Given the description of an element on the screen output the (x, y) to click on. 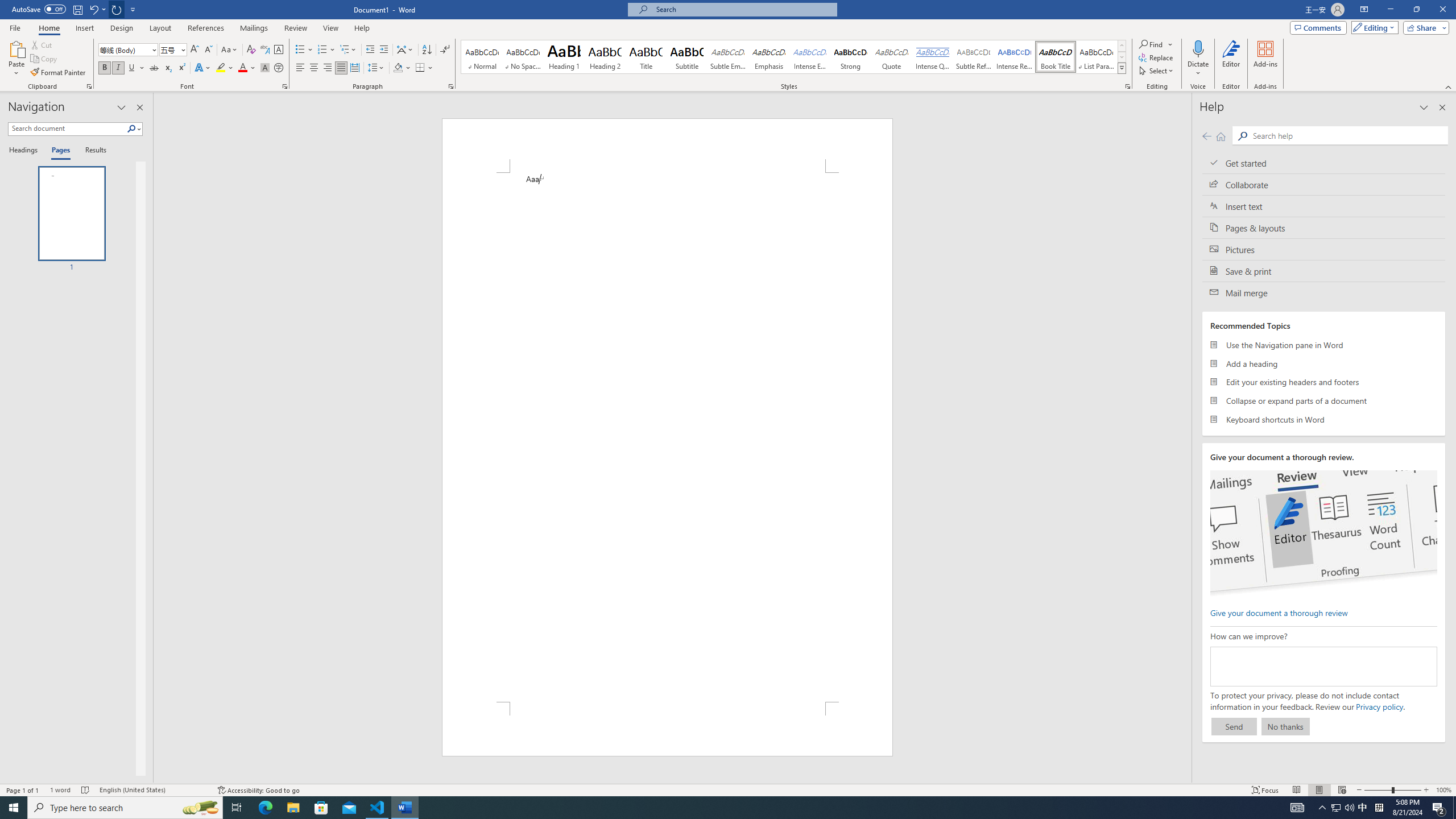
Quote (891, 56)
Bullets (300, 49)
Format Painter (58, 72)
Intense Quote (932, 56)
Language English (United States) (152, 790)
Spelling and Grammar Check No Errors (85, 790)
Undo Style (92, 9)
Minimize (1390, 9)
Pages (59, 150)
Multilevel List (347, 49)
Design (122, 28)
Select (1157, 69)
Align Left (300, 67)
Restore Down (1416, 9)
Justify (340, 67)
